Given the description of an element on the screen output the (x, y) to click on. 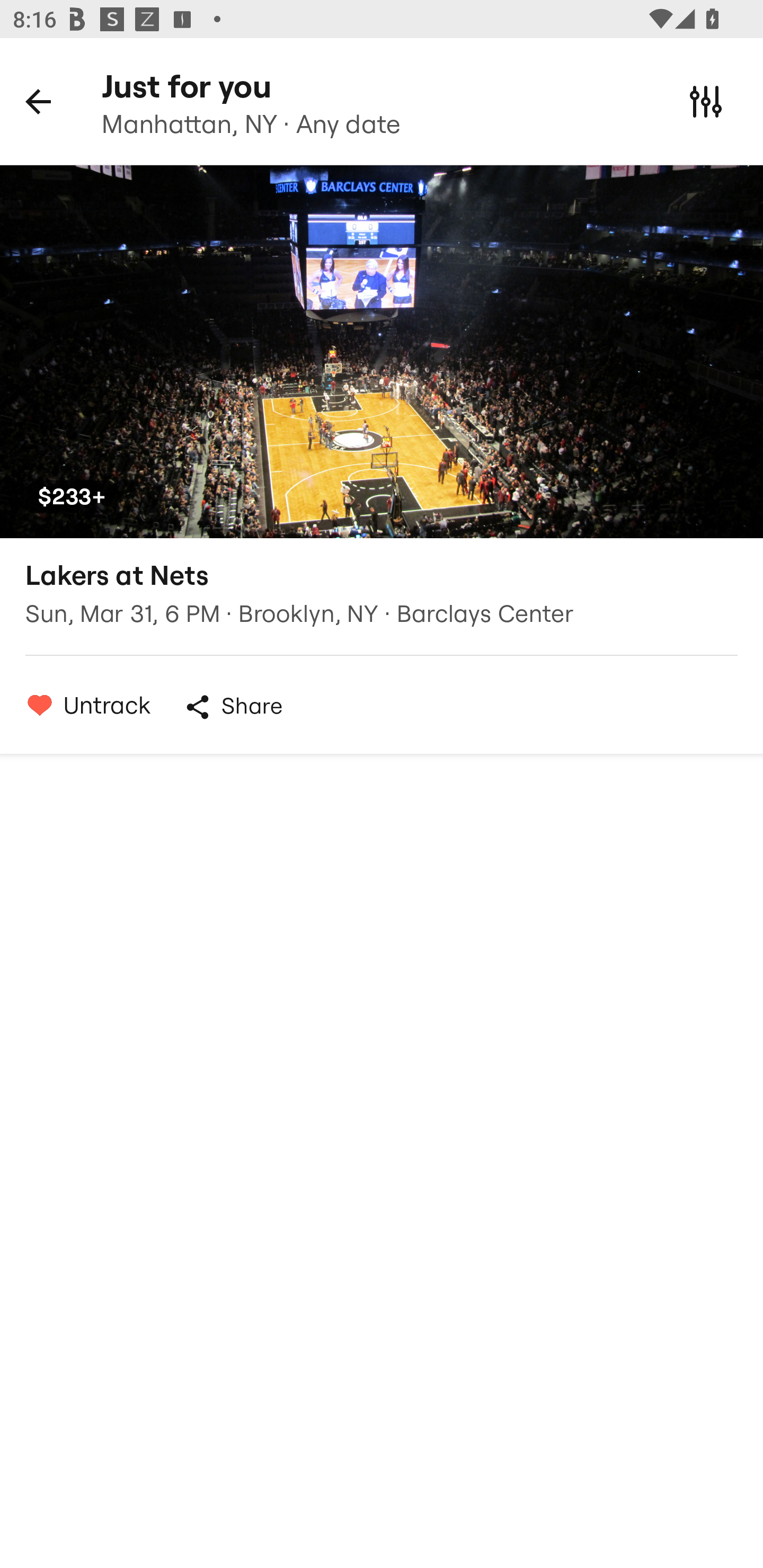
Back (38, 100)
Close (705, 100)
Untrack (83, 704)
Share (233, 706)
